Given the description of an element on the screen output the (x, y) to click on. 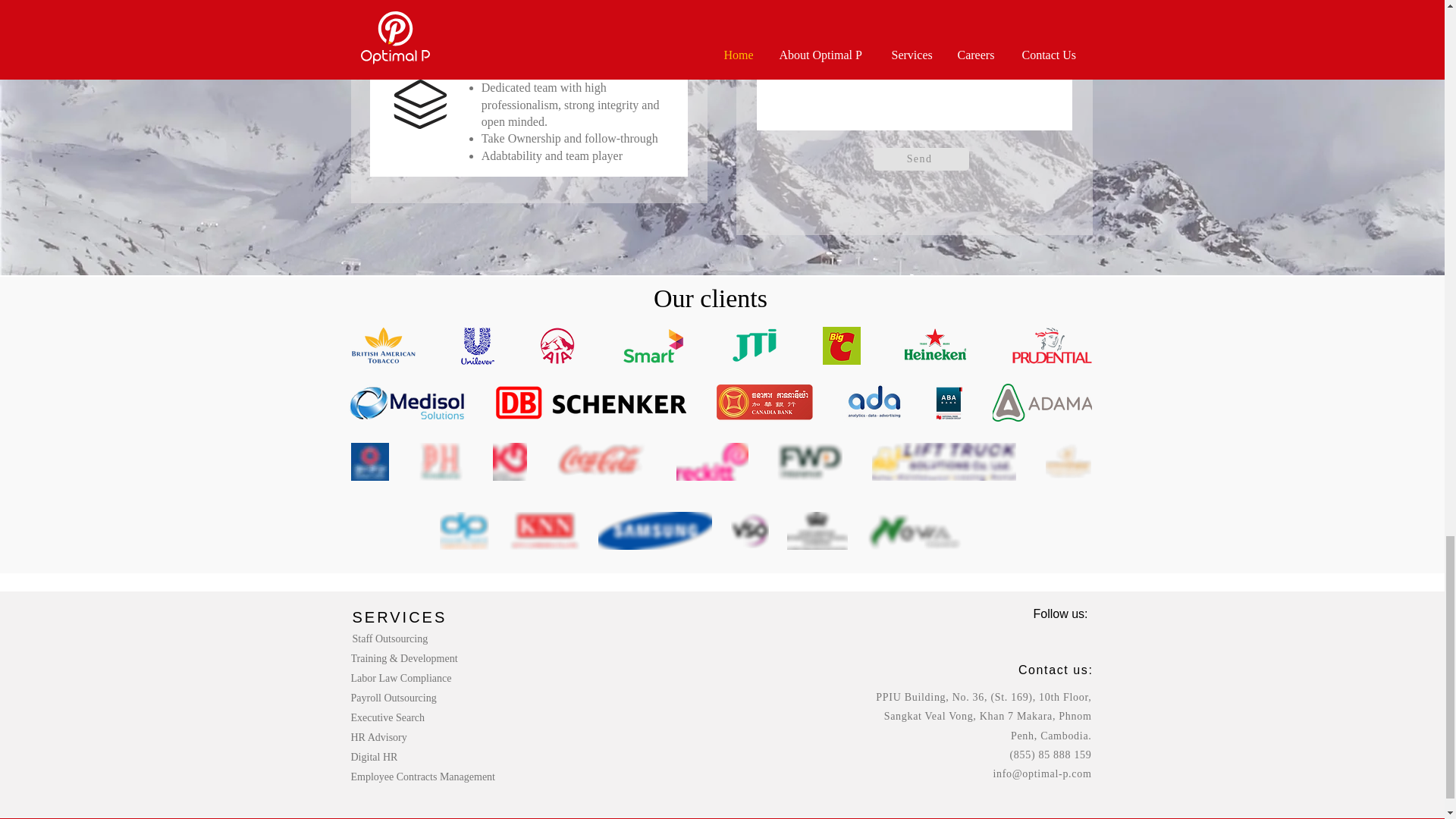
SERVICES (399, 617)
Prudential.png (1050, 345)
Staff Outsourcing (412, 638)
Smart.png (652, 345)
Unilever.png (476, 345)
JTI.png (753, 345)
medisol-logo.png (406, 402)
Send (921, 159)
AIA.png (557, 345)
